Given the description of an element on the screen output the (x, y) to click on. 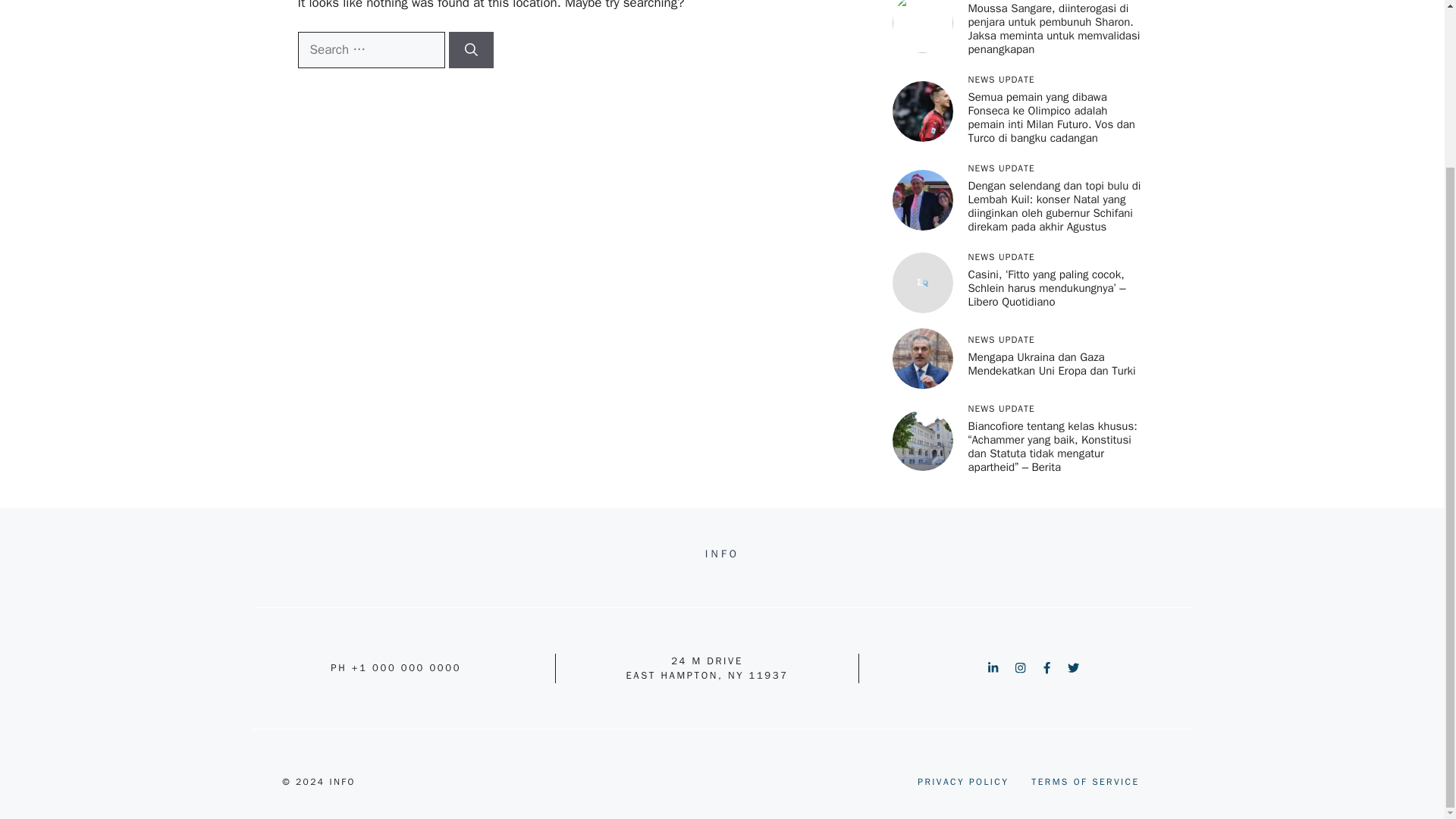
TERMS OF SERVICE (1084, 781)
Mengapa Ukraina dan Gaza Mendekatkan Uni Eropa dan Turki (1051, 363)
PRIVACY POLICY (963, 781)
Search for: (370, 49)
